Given the description of an element on the screen output the (x, y) to click on. 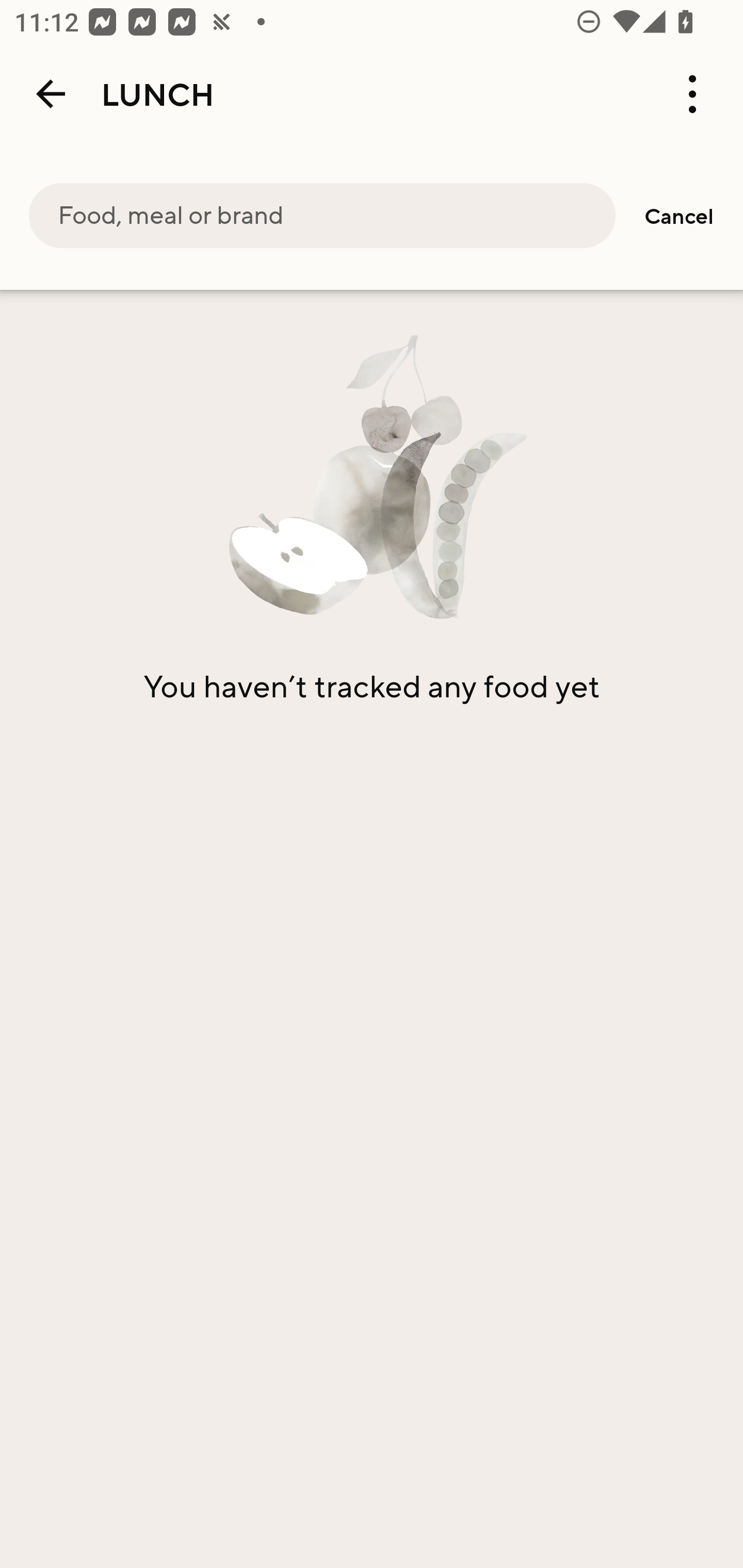
Back (50, 93)
Cancel (679, 215)
